Given the description of an element on the screen output the (x, y) to click on. 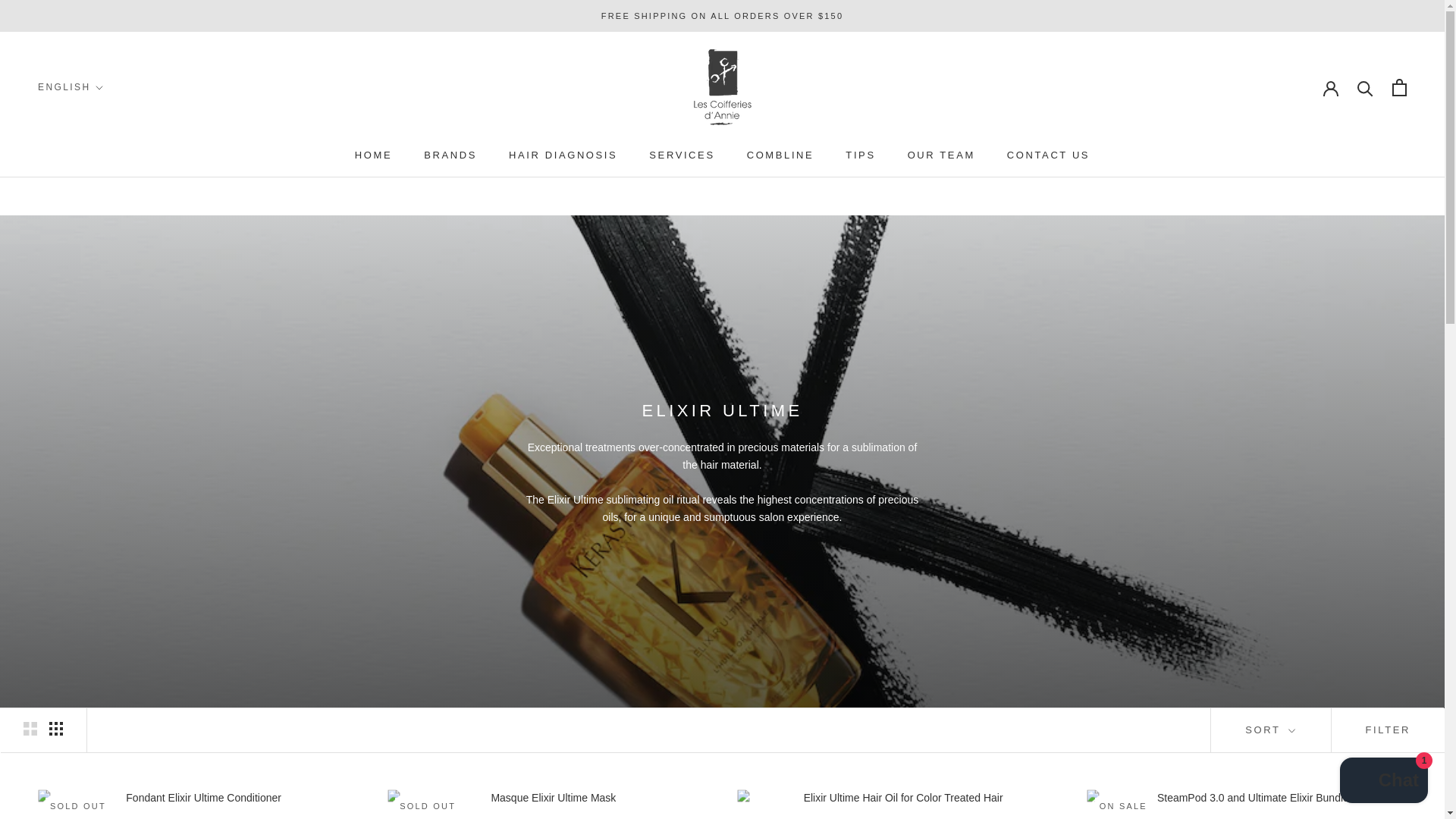
Shopify online store chat (1383, 781)
